Given the description of an element on the screen output the (x, y) to click on. 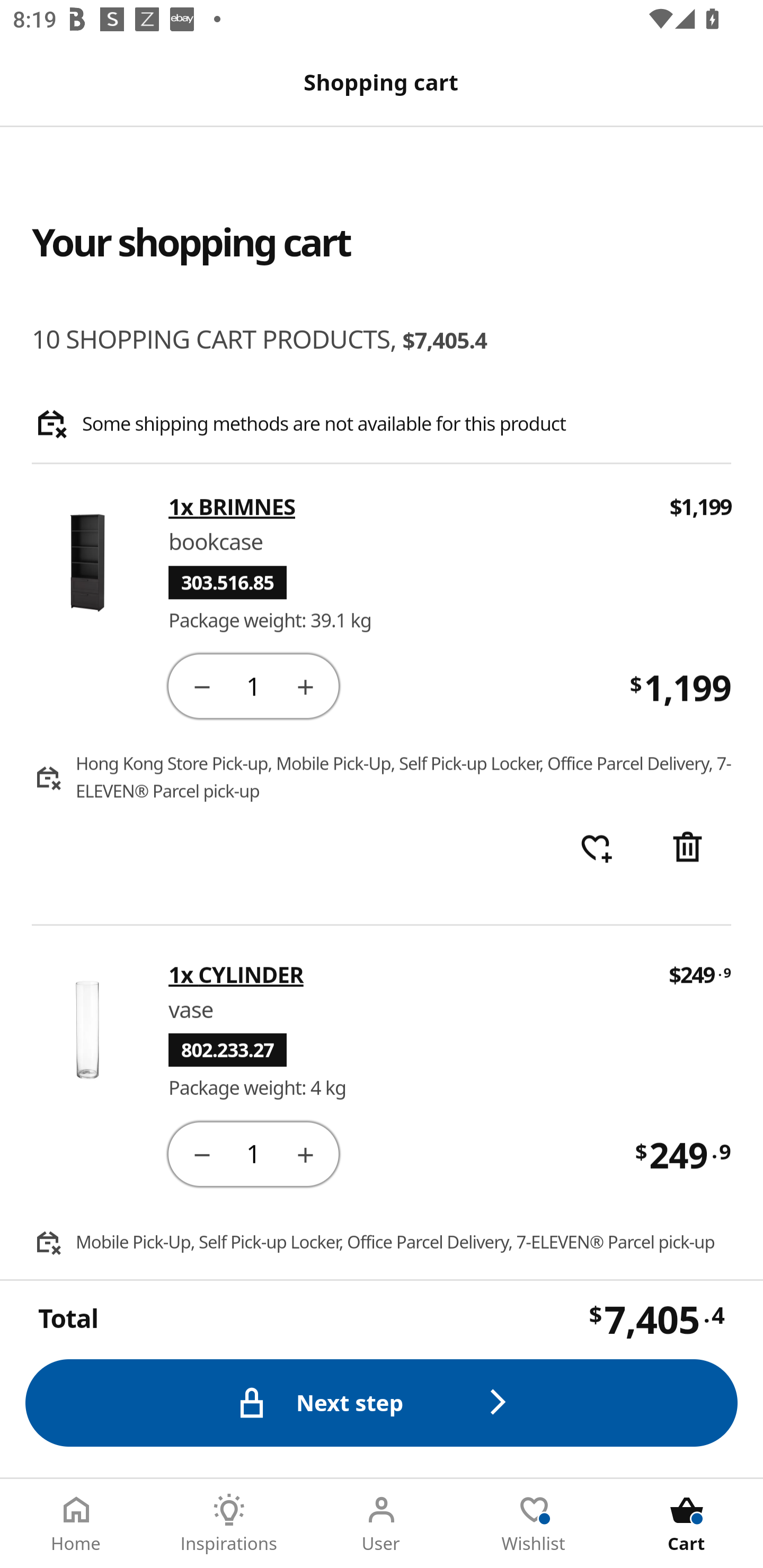
1x  BRIMNES 1x  BRIMNES (406, 507)
1 (253, 685)
 (201, 685)
 (305, 685)
  (595, 848)
 (686, 848)
1x  CYLINDER 1x  CYLINDER (405, 974)
1 (253, 1153)
 (201, 1153)
 (305, 1153)
Home
Tab 1 of 5 (76, 1522)
Inspirations
Tab 2 of 5 (228, 1522)
User
Tab 3 of 5 (381, 1522)
Wishlist
Tab 4 of 5 (533, 1522)
Cart
Tab 5 of 5 (686, 1522)
